Given the description of an element on the screen output the (x, y) to click on. 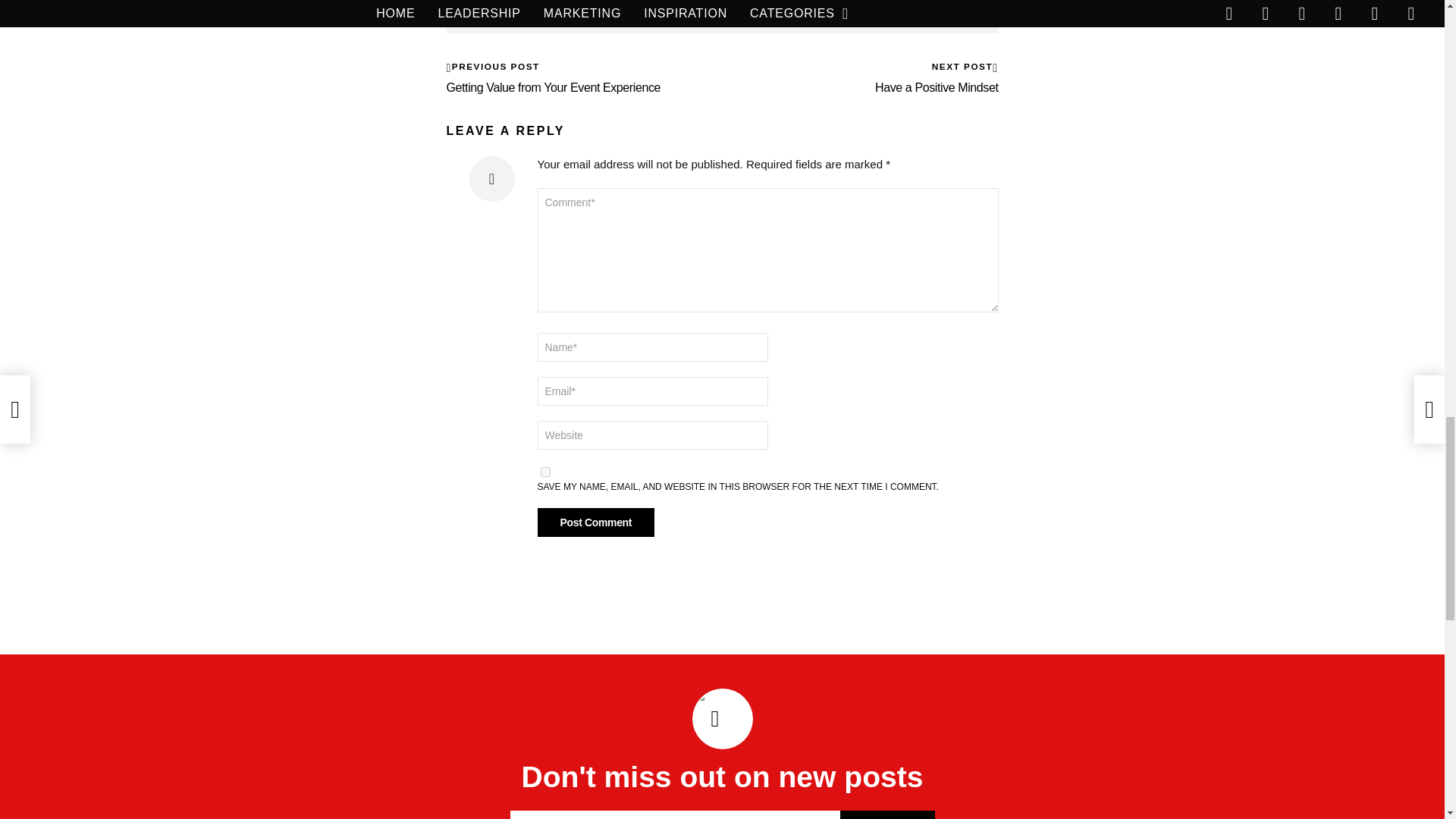
Subscribe (887, 814)
Post Comment (595, 522)
yes (545, 471)
